Given the description of an element on the screen output the (x, y) to click on. 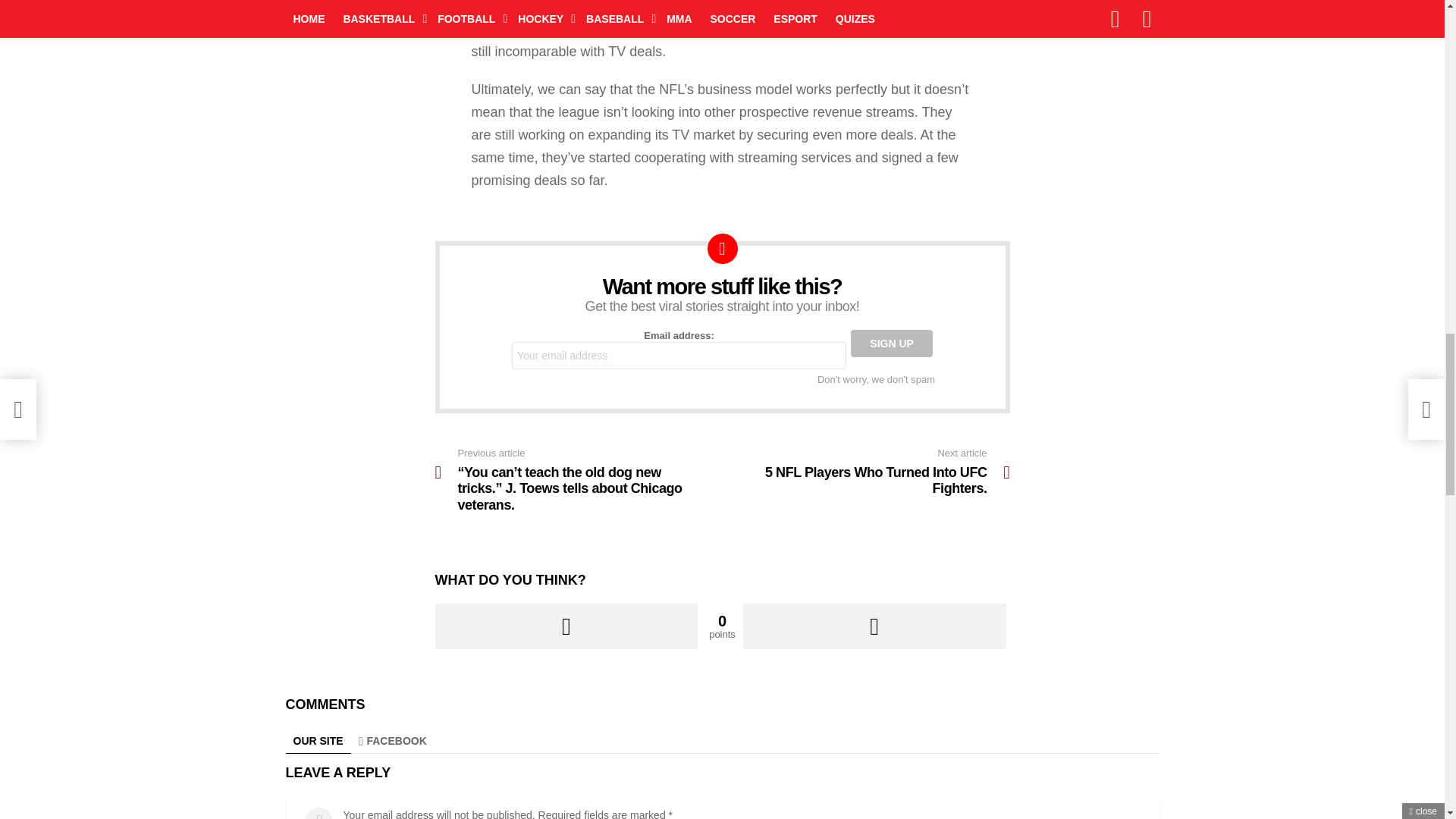
Downvote (874, 626)
Downvote (874, 626)
Sign up (891, 343)
Sign up (891, 343)
Upvote (566, 626)
Upvote (566, 626)
